Given the description of an element on the screen output the (x, y) to click on. 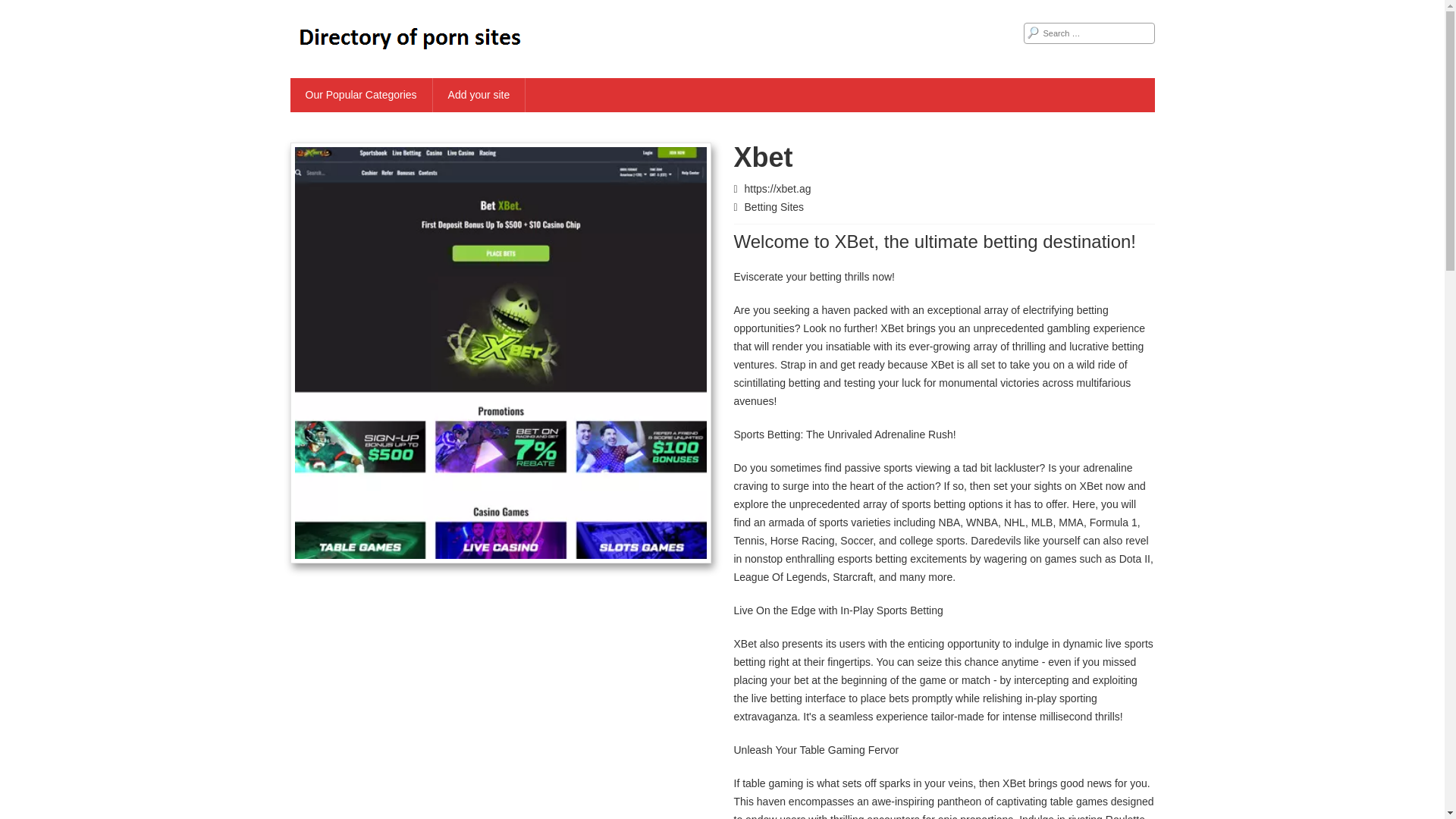
Our Popular Categories (360, 94)
Search (22, 9)
Add your site (478, 94)
Betting Sites (774, 206)
